Given the description of an element on the screen output the (x, y) to click on. 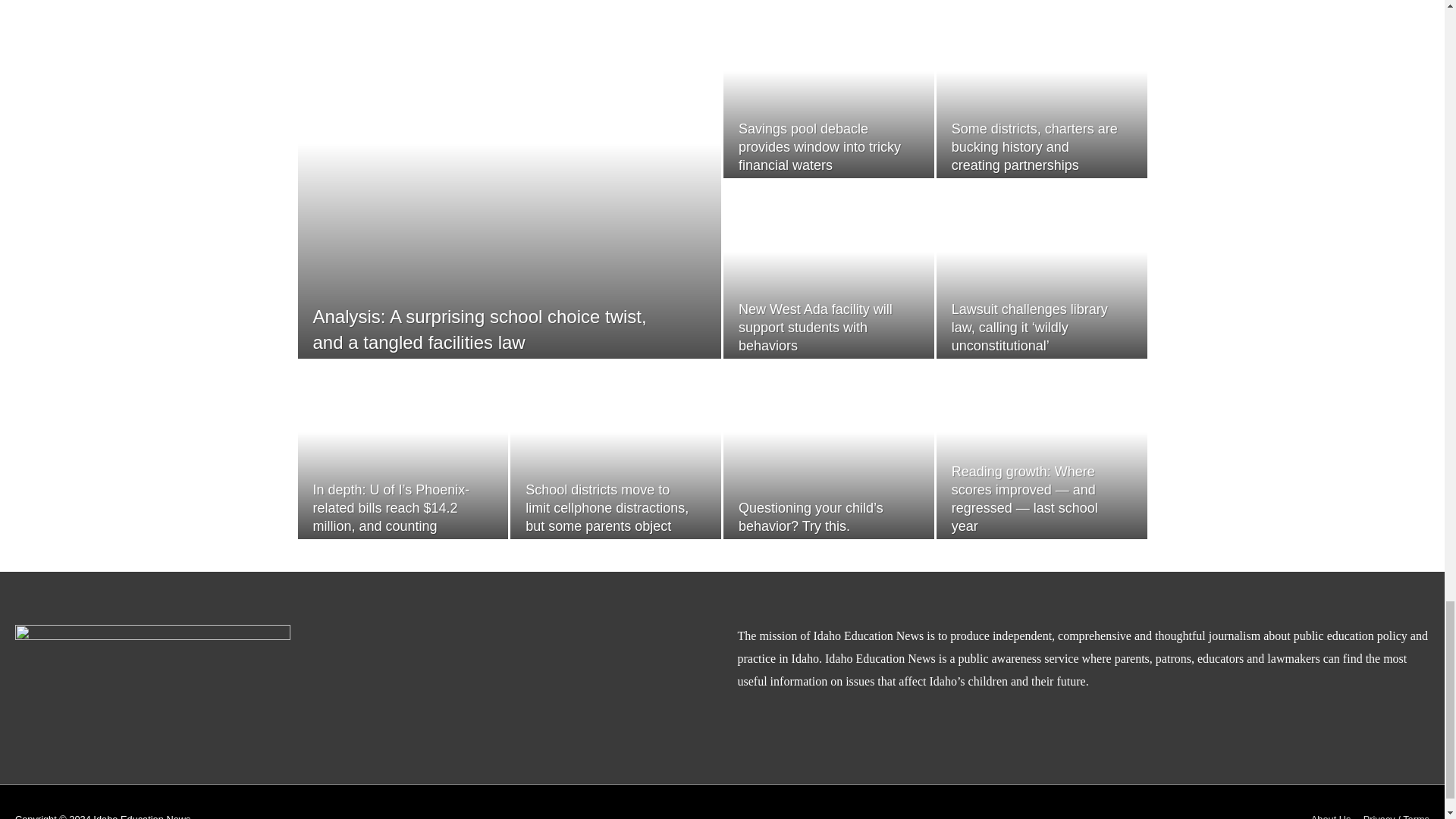
New West Ada facility will support students with behaviors (1028, 179)
